Given the description of an element on the screen output the (x, y) to click on. 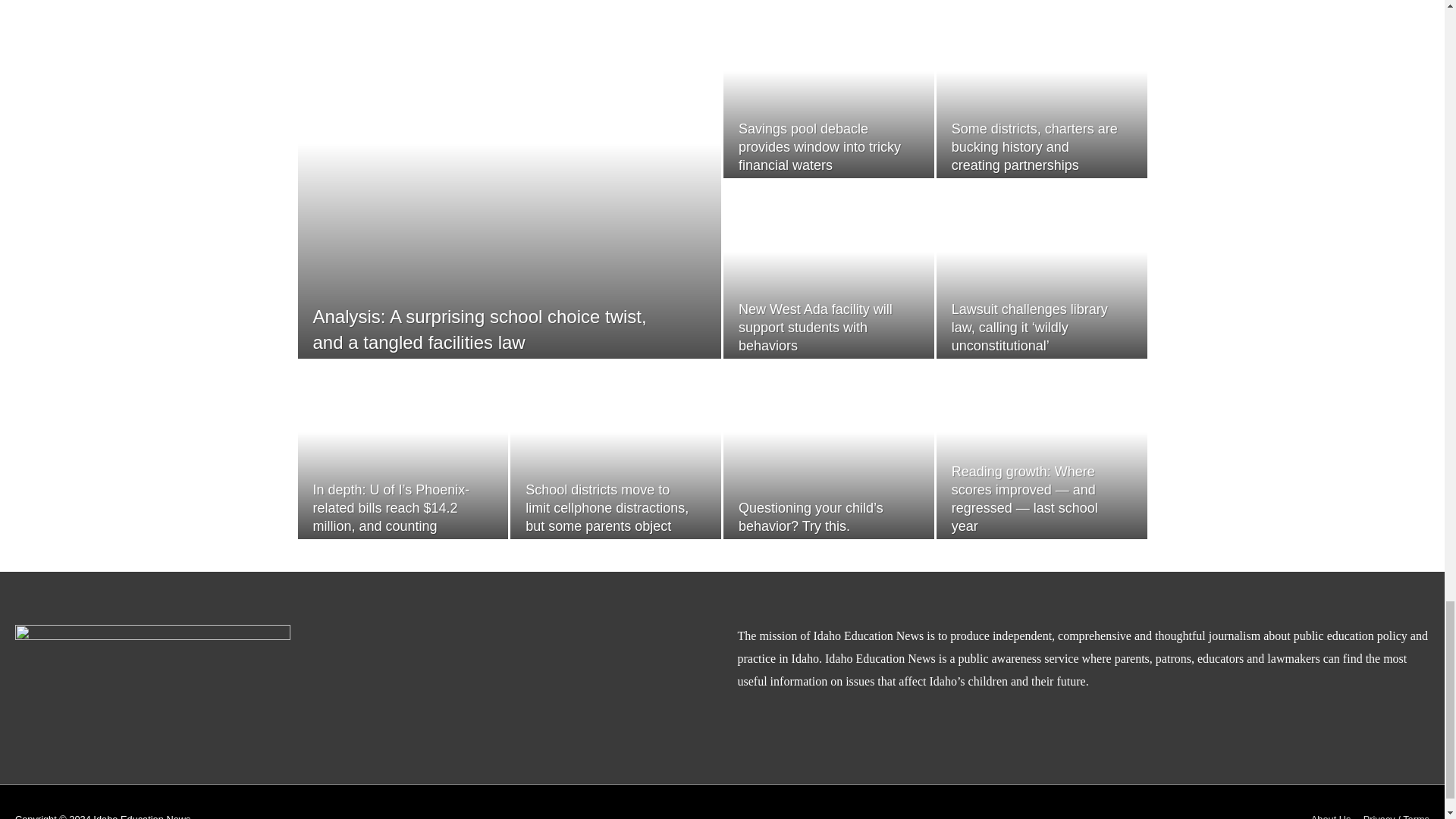
New West Ada facility will support students with behaviors (1028, 179)
